Given the description of an element on the screen output the (x, y) to click on. 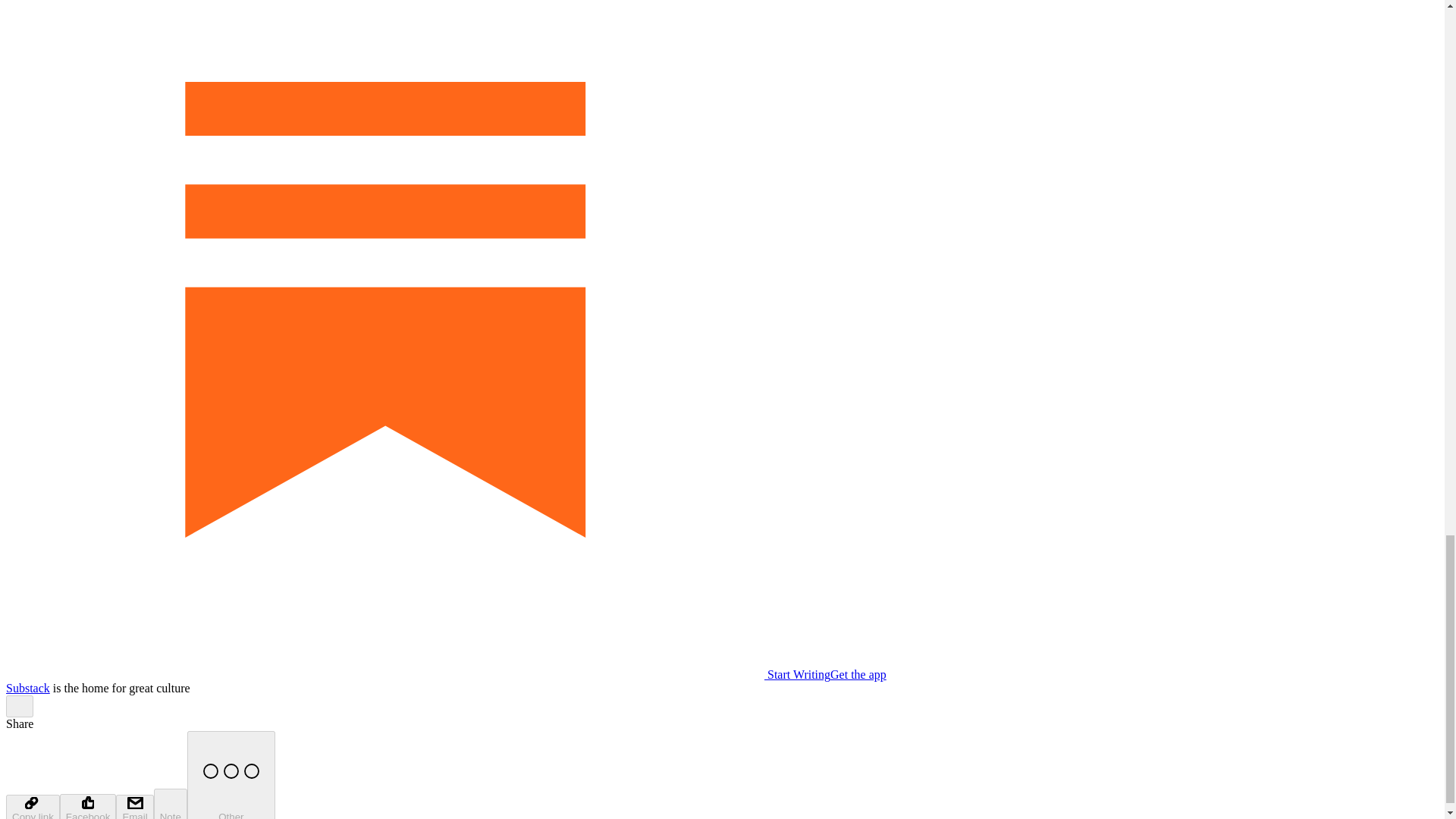
Start Writing (417, 674)
Get the app (857, 674)
Substack (27, 687)
